Given the description of an element on the screen output the (x, y) to click on. 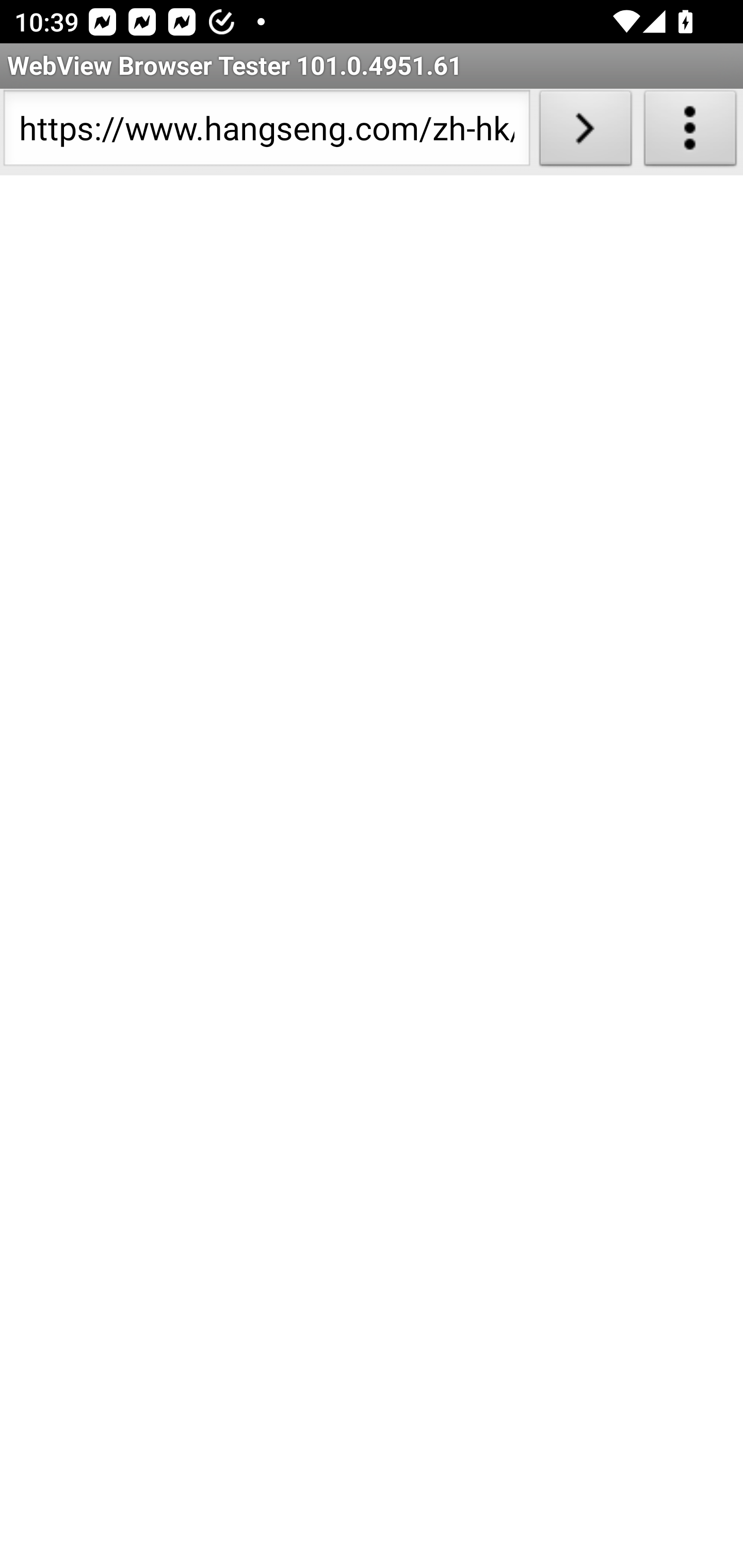
Load URL (585, 132)
About WebView (690, 132)
